Given the description of an element on the screen output the (x, y) to click on. 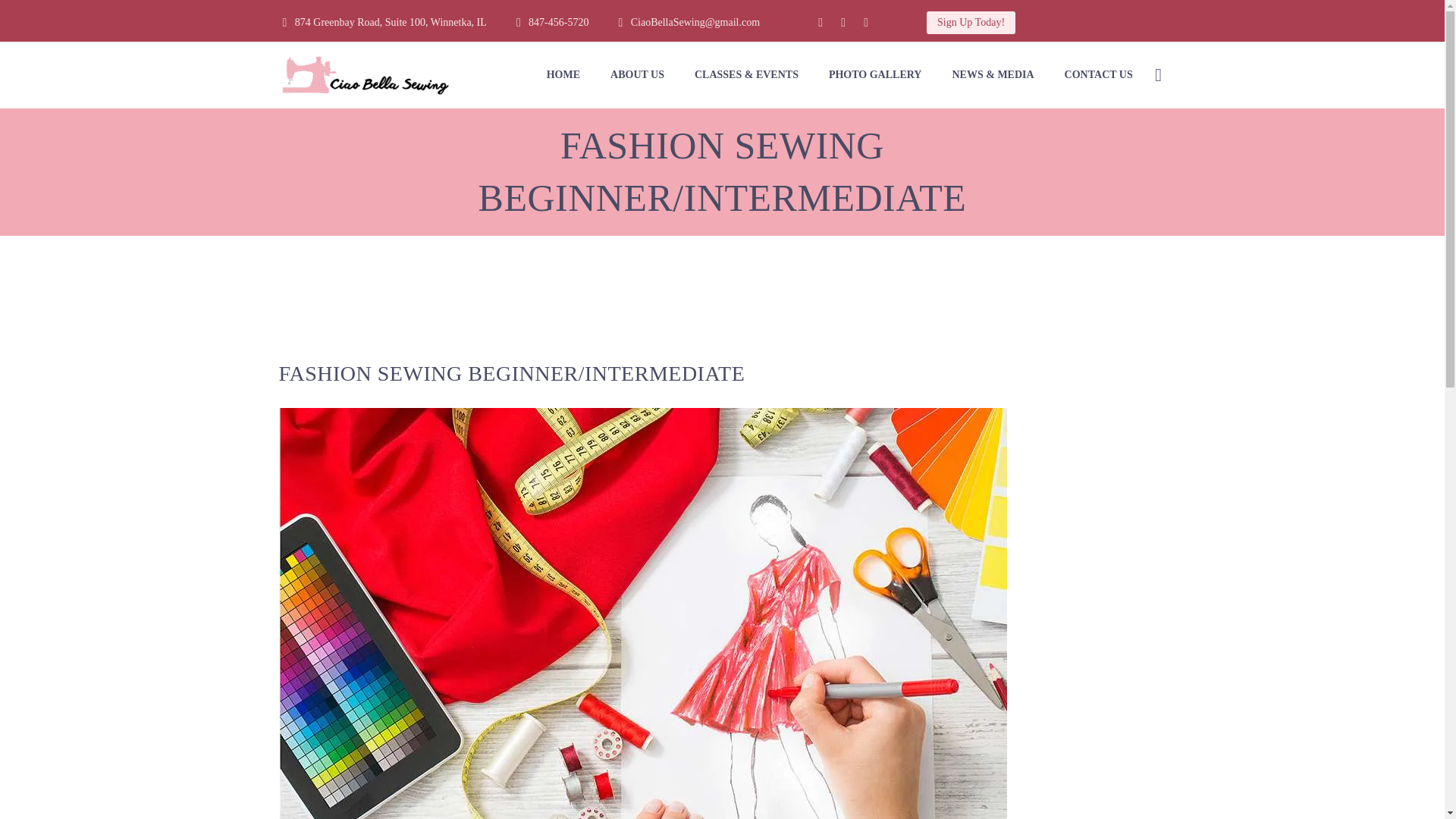
847-456-5720 (558, 21)
Facebook (820, 22)
CONTACT US (1098, 74)
ABOUT US (637, 74)
Sign Up Today! (970, 22)
HOME (563, 74)
Pinterest (865, 22)
Instagram (842, 22)
PHOTO GALLERY (875, 74)
